Given the description of an element on the screen output the (x, y) to click on. 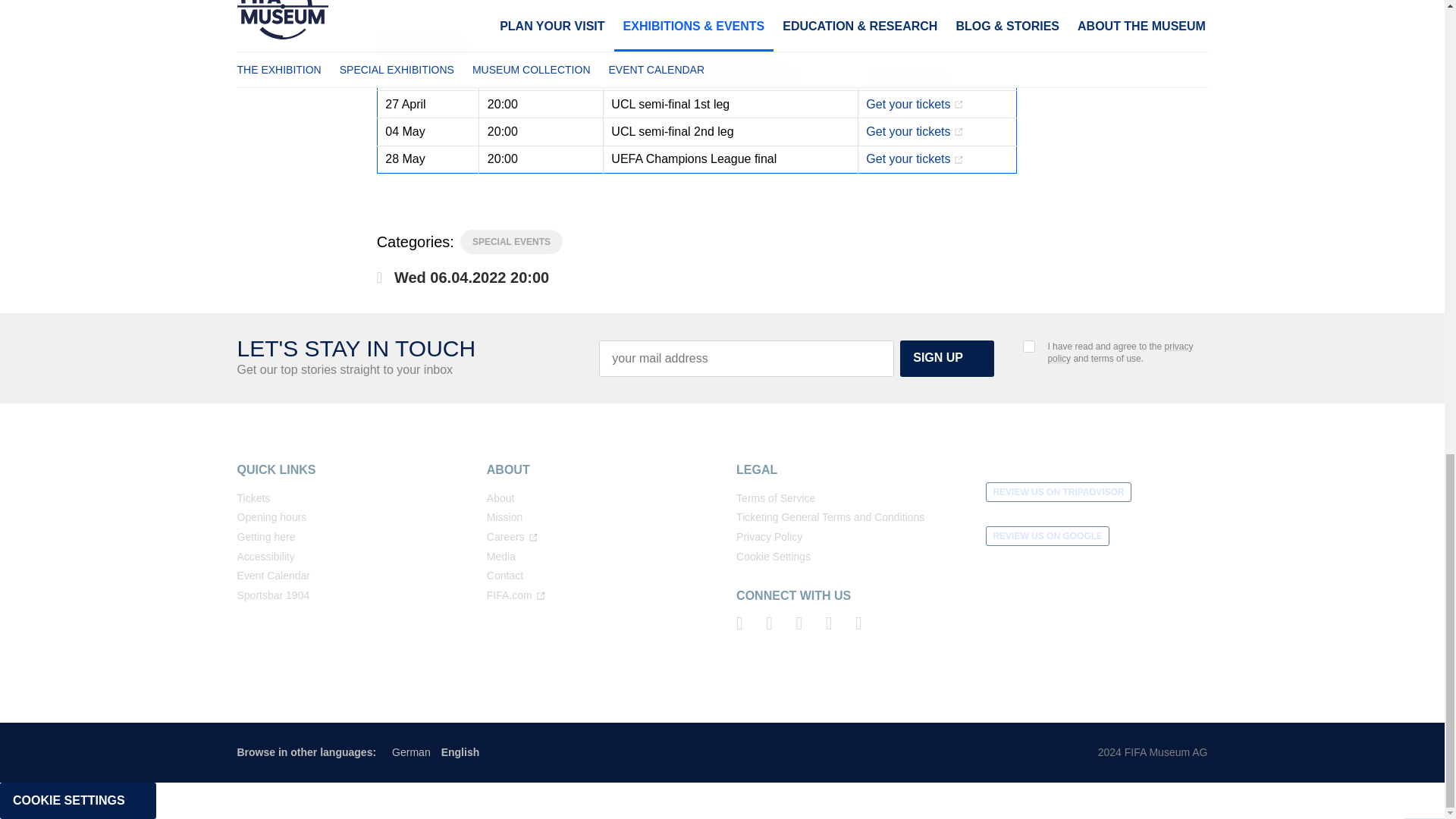
ja (1029, 346)
